Given the description of an element on the screen output the (x, y) to click on. 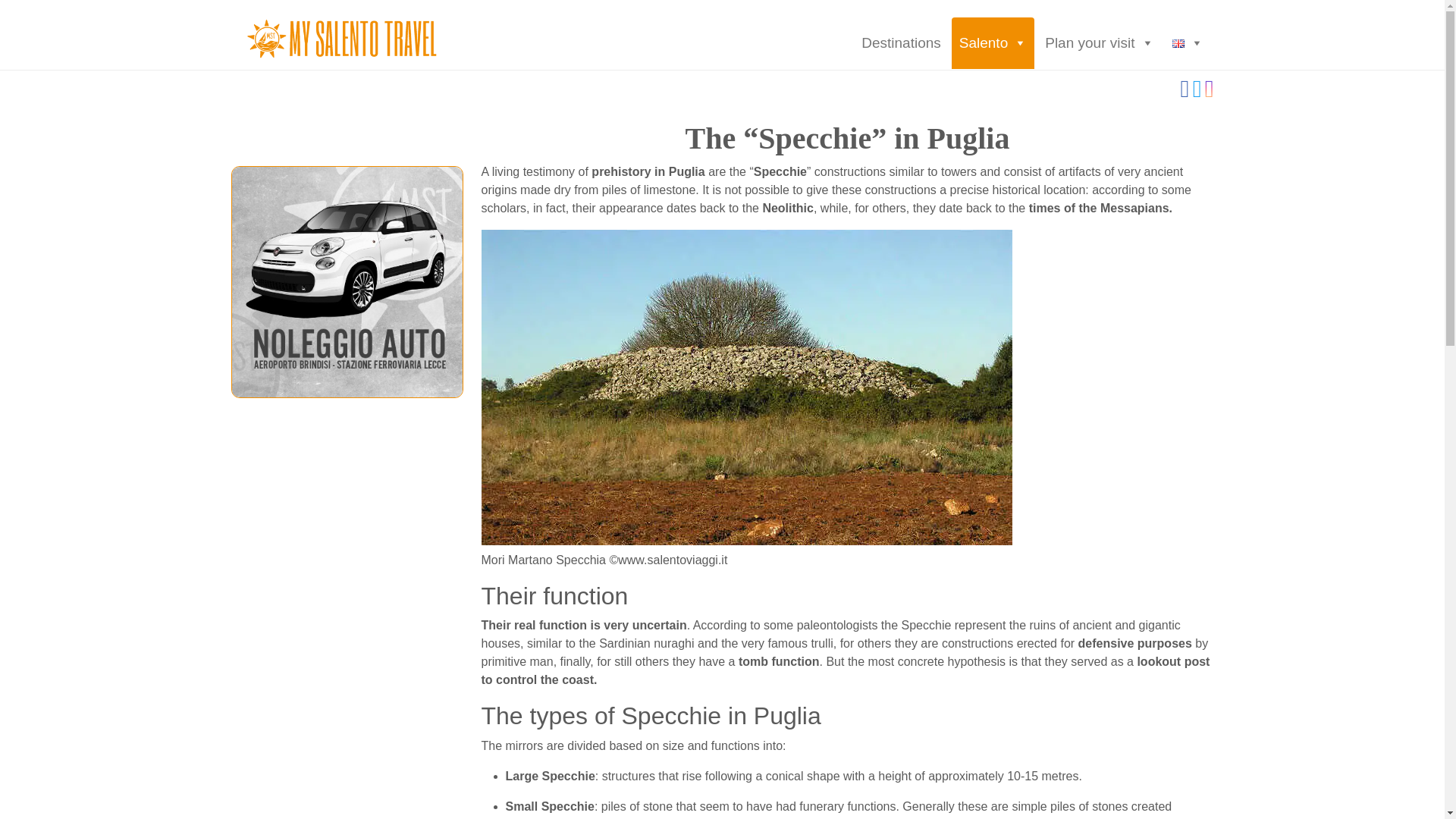
Visit our Facebook page (1186, 92)
Visit our Twitter page (1198, 92)
Rent a car (347, 280)
Salento (992, 41)
Plan your visit (1098, 41)
Destinations (901, 41)
